Given the description of an element on the screen output the (x, y) to click on. 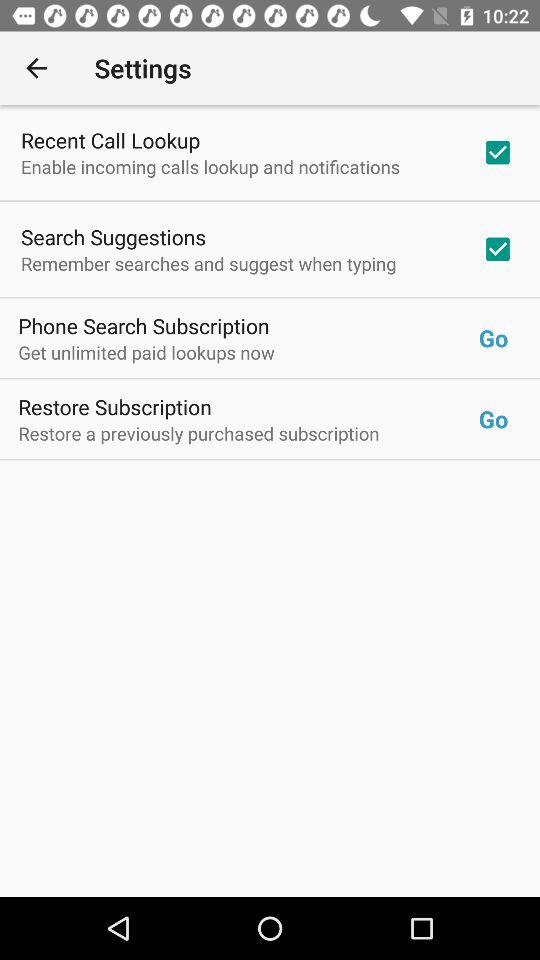
choose the item below remember searches and icon (143, 325)
